Given the description of an element on the screen output the (x, y) to click on. 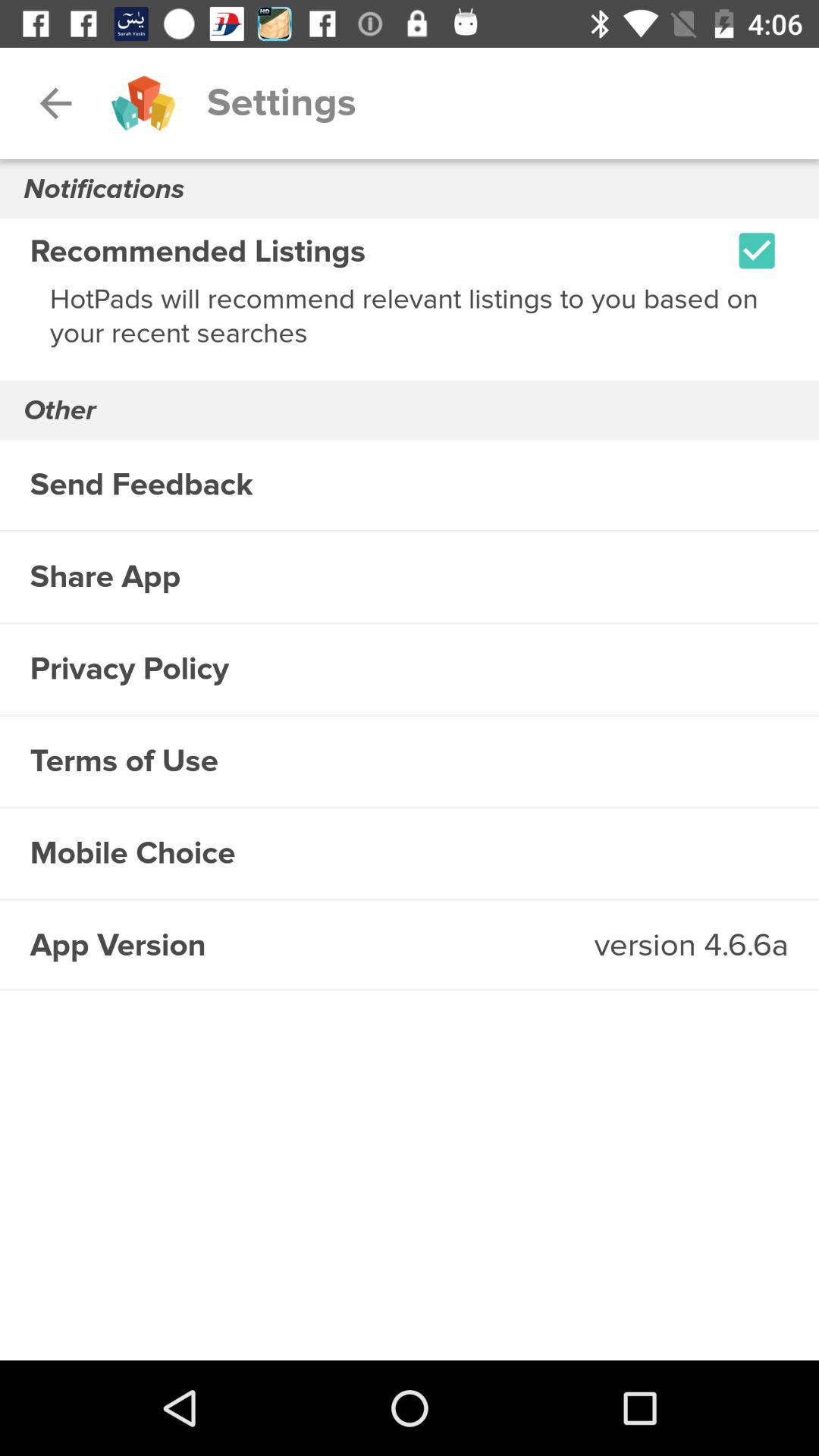
tap item to the right of the recommended listings item (756, 250)
